Given the description of an element on the screen output the (x, y) to click on. 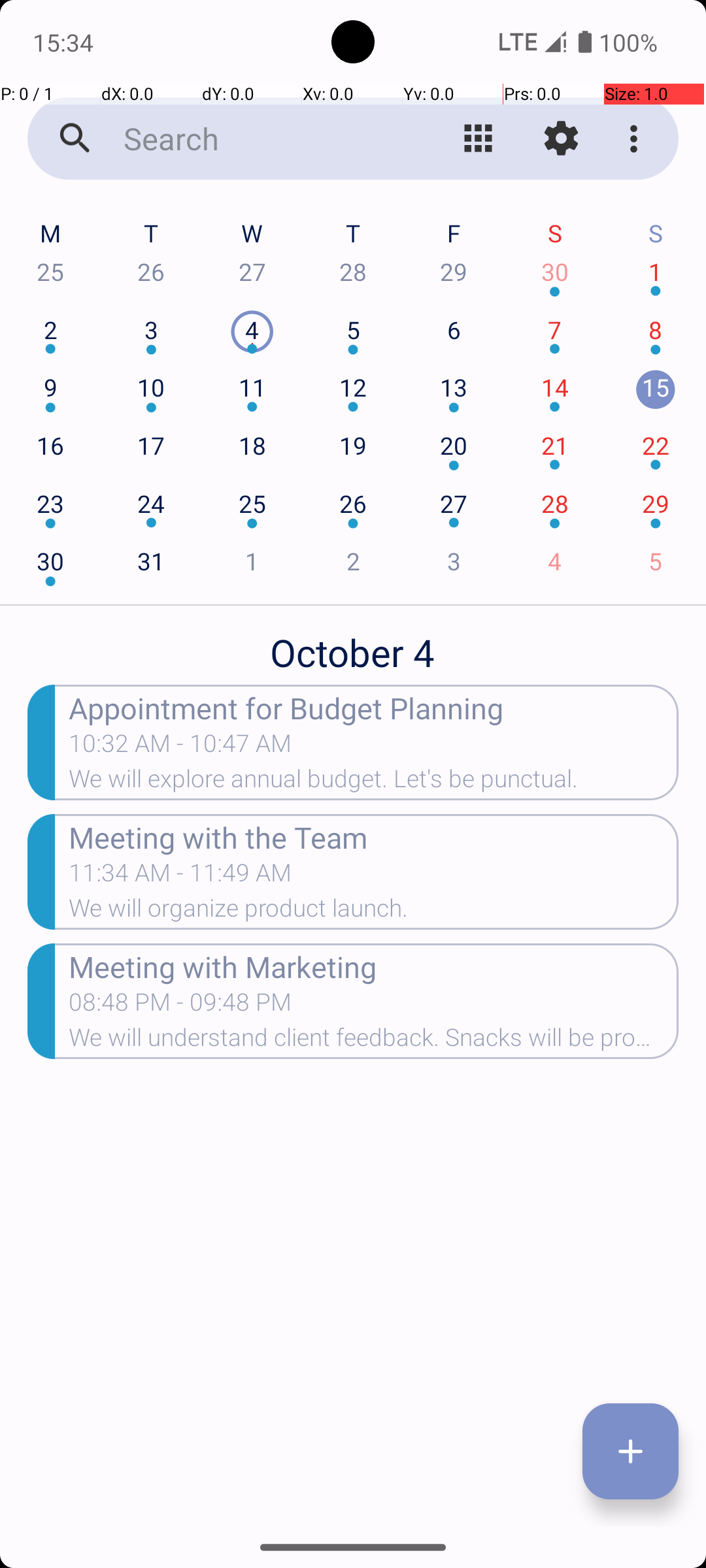
October 4 Element type: android.widget.TextView (352, 644)
10:32 AM - 10:47 AM Element type: android.widget.TextView (179, 747)
We will explore annual budget. Let's be punctual. Element type: android.widget.TextView (373, 782)
11:34 AM - 11:49 AM Element type: android.widget.TextView (179, 876)
We will organize product launch. Element type: android.widget.TextView (373, 911)
08:48 PM - 09:48 PM Element type: android.widget.TextView (179, 1005)
We will understand client feedback. Snacks will be provided. Element type: android.widget.TextView (373, 1041)
